Given the description of an element on the screen output the (x, y) to click on. 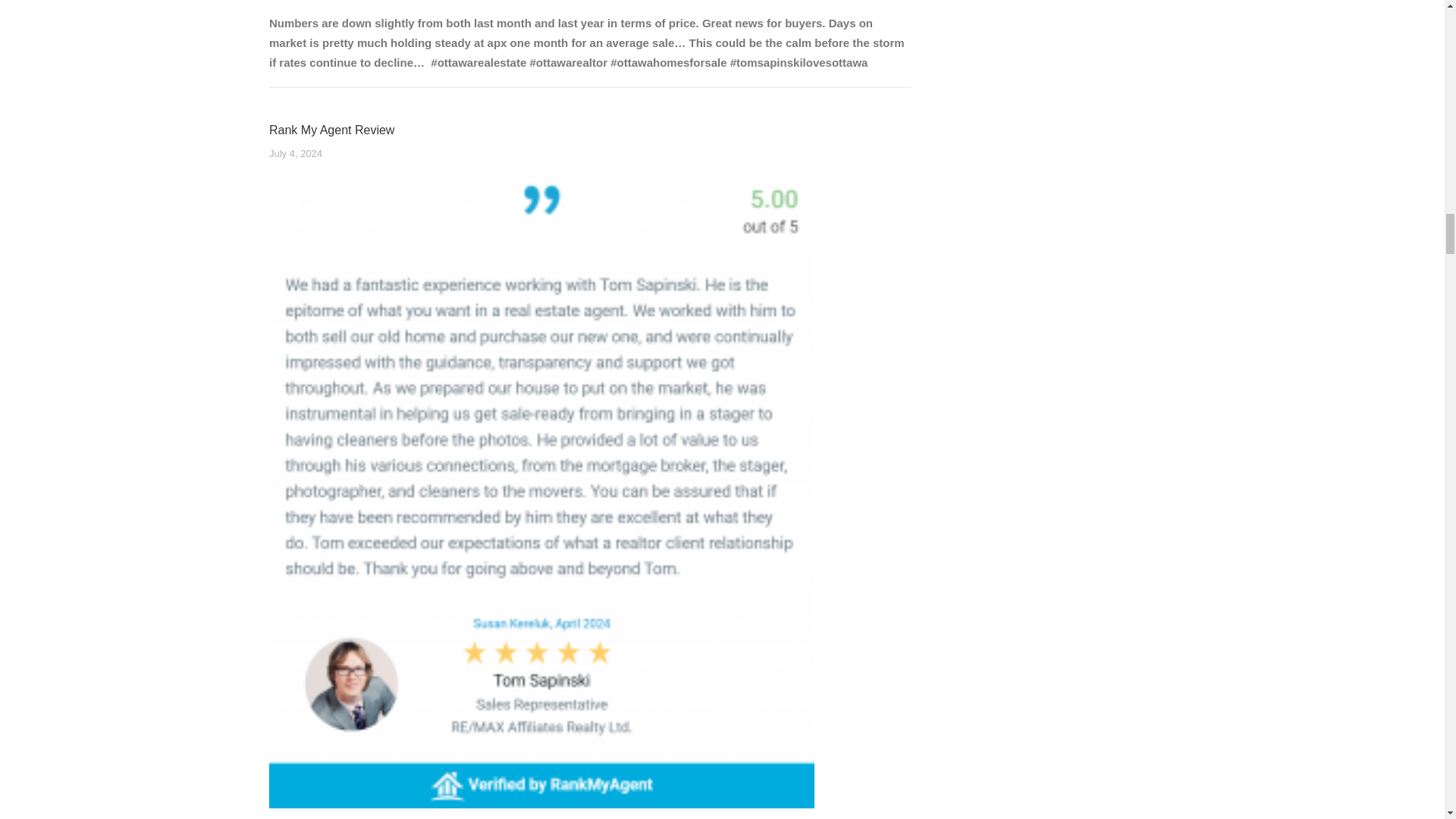
Rank My Agent Review (331, 129)
3:10 pm (295, 153)
